Given the description of an element on the screen output the (x, y) to click on. 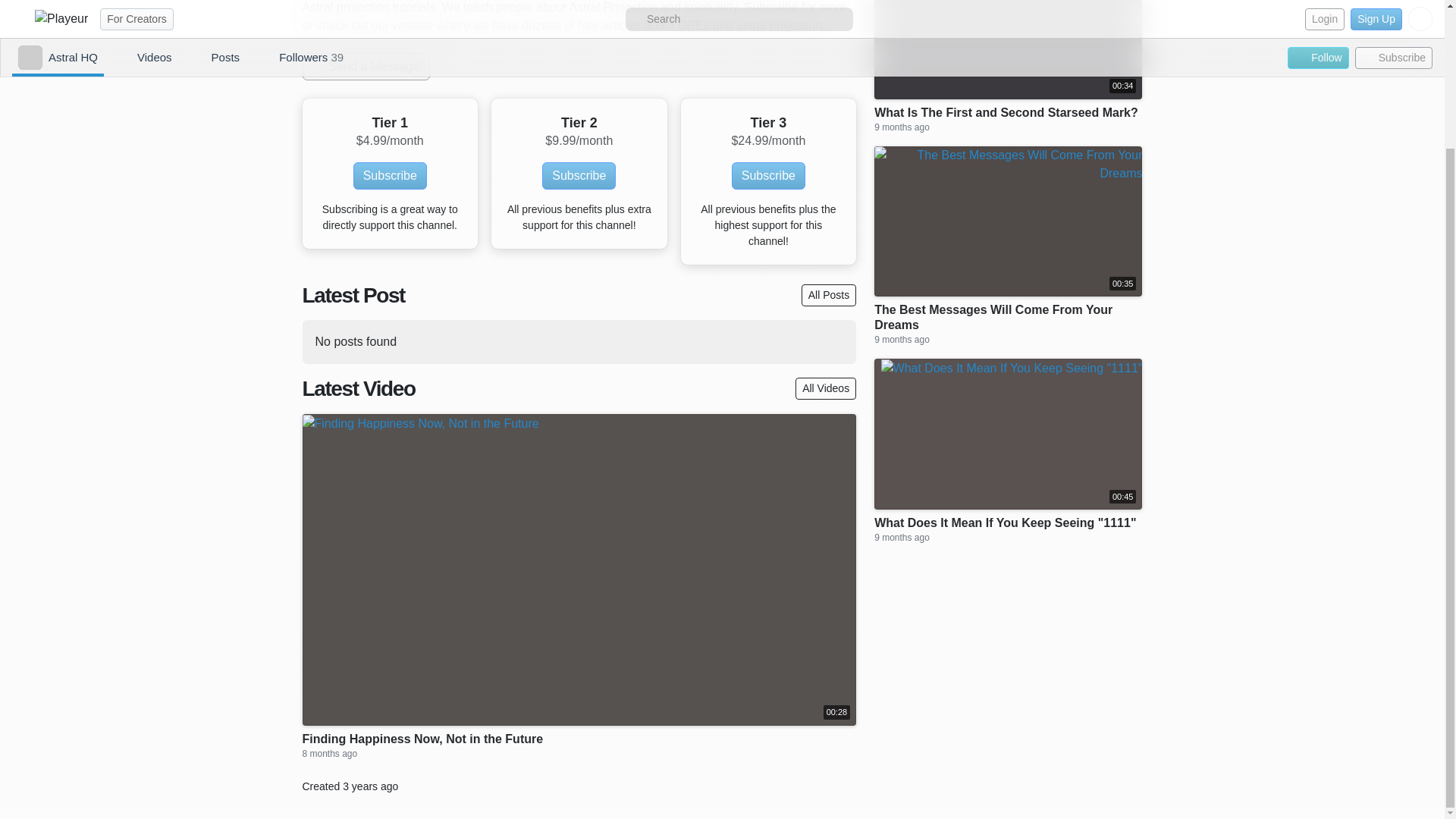
00:34 (1008, 49)
What Does It Mean If You Keep Seeing "1111" (1005, 522)
Finding Happiness Now, Not in the Future (422, 739)
What Is The First and Second Starseed Mark? (1006, 112)
Subscribe (578, 175)
Finding Happiness Now, Not in the Future (422, 739)
Send a Message (365, 66)
What Is The First and Second Starseed Mark? (1006, 112)
All Videos (825, 388)
The Best Messages Will Come From Your Dreams (1008, 317)
Subscribe (768, 175)
All Posts (829, 295)
Subscribe (389, 175)
